Given the description of an element on the screen output the (x, y) to click on. 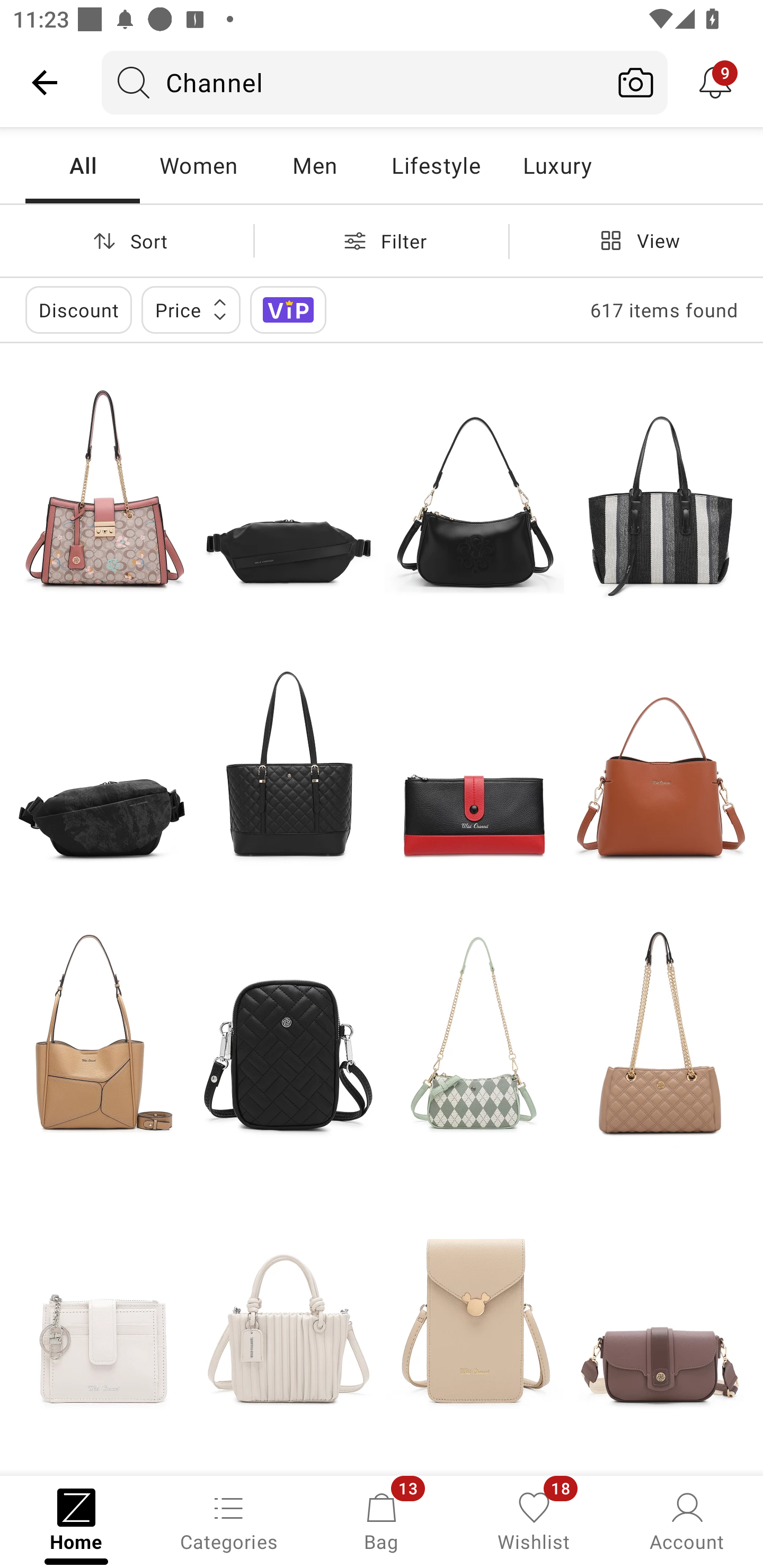
Navigate up (44, 82)
Channel (352, 82)
Women (198, 165)
Men (314, 165)
Lifestyle (435, 165)
Luxury (556, 165)
Sort (126, 240)
Filter (381, 240)
View (636, 240)
Discount (78, 309)
Price (190, 309)
Categories (228, 1519)
Bag, 13 new notifications Bag (381, 1519)
Wishlist, 18 new notifications Wishlist (533, 1519)
Account (686, 1519)
